Given the description of an element on the screen output the (x, y) to click on. 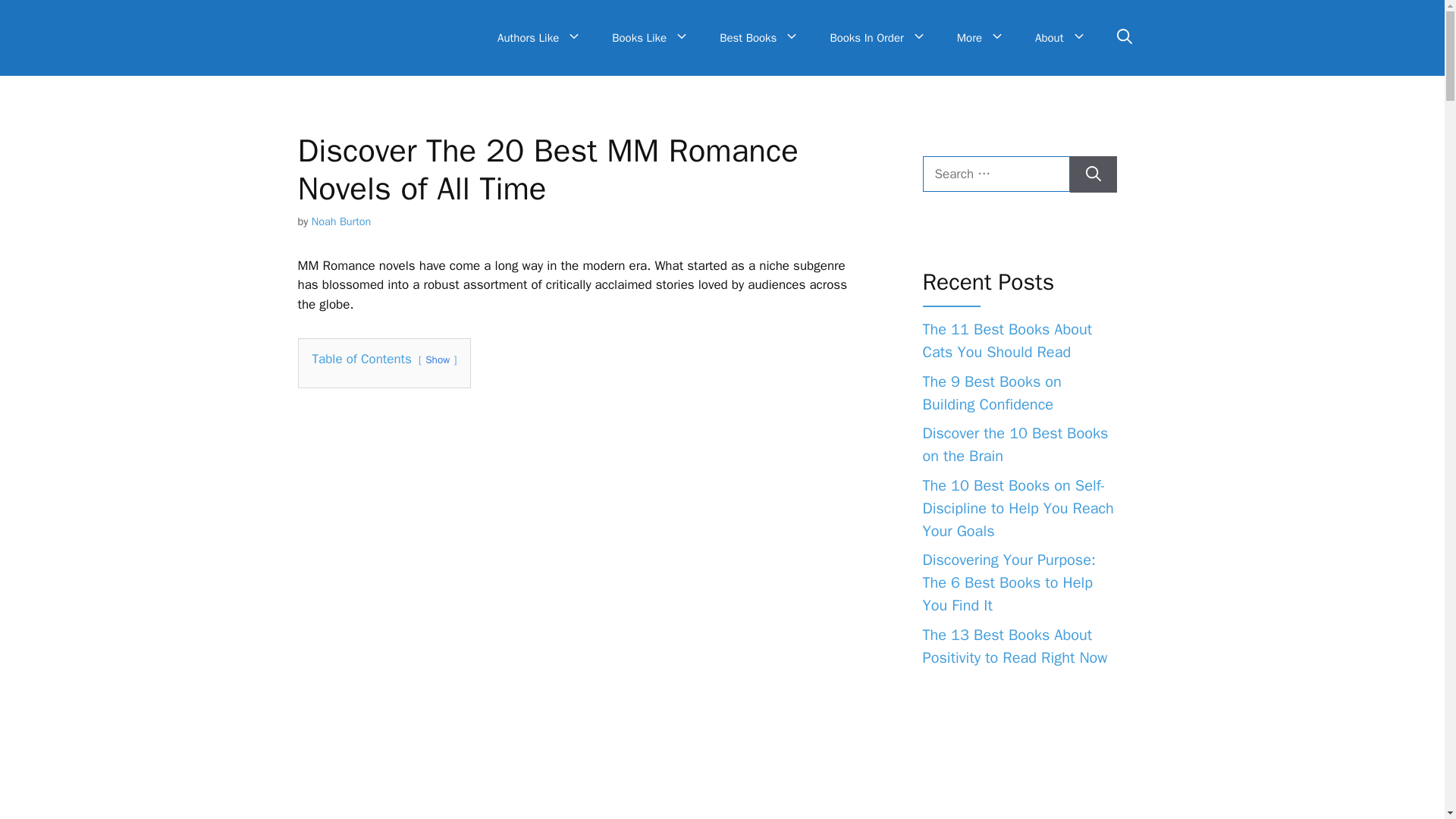
View all posts by Noah Burton (341, 221)
Books Like (650, 37)
Best Books (758, 37)
Authors Like (538, 37)
